Given the description of an element on the screen output the (x, y) to click on. 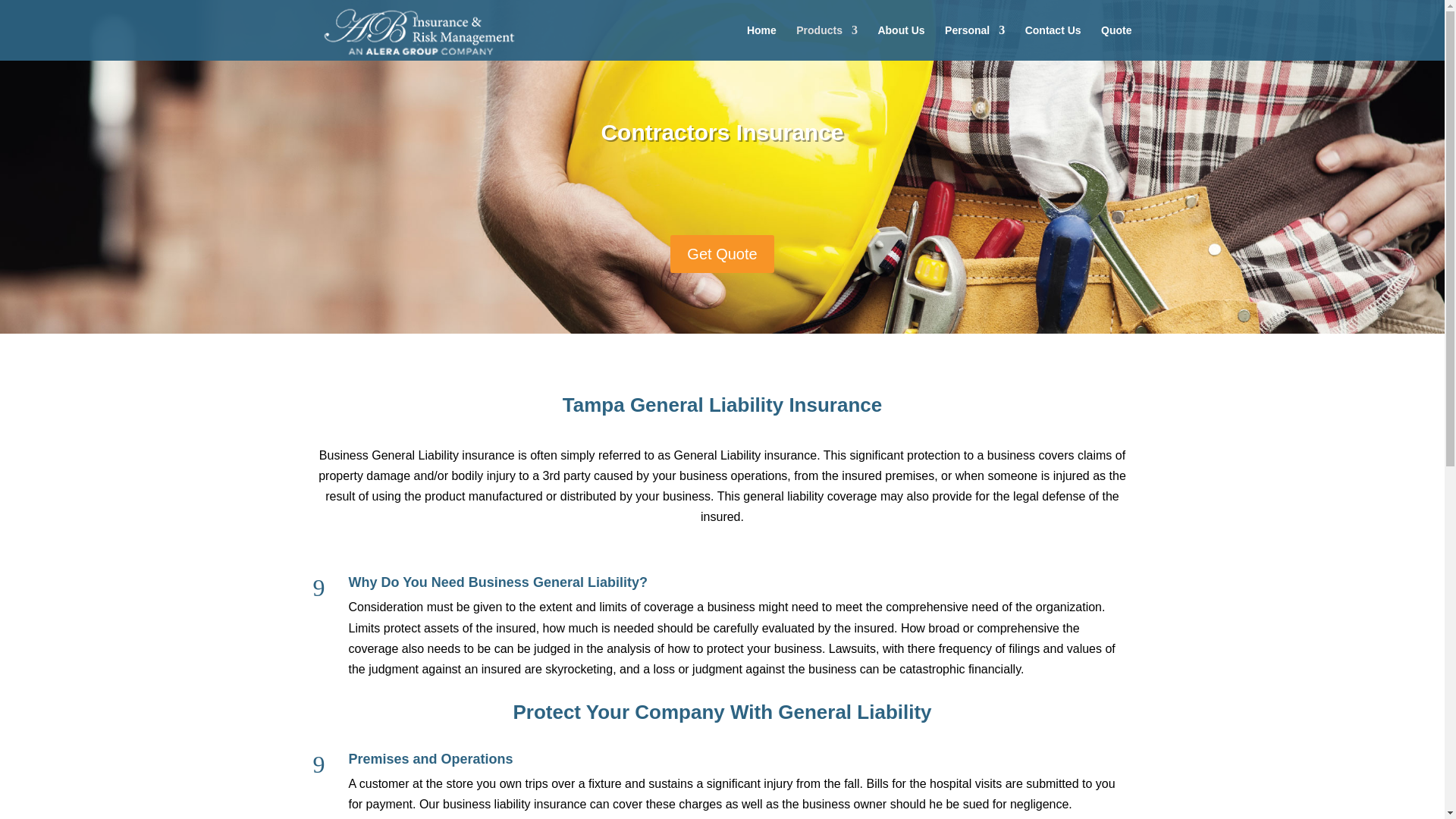
Products (826, 42)
Contact Us (1053, 42)
Personal (974, 42)
About Us (900, 42)
